Given the description of an element on the screen output the (x, y) to click on. 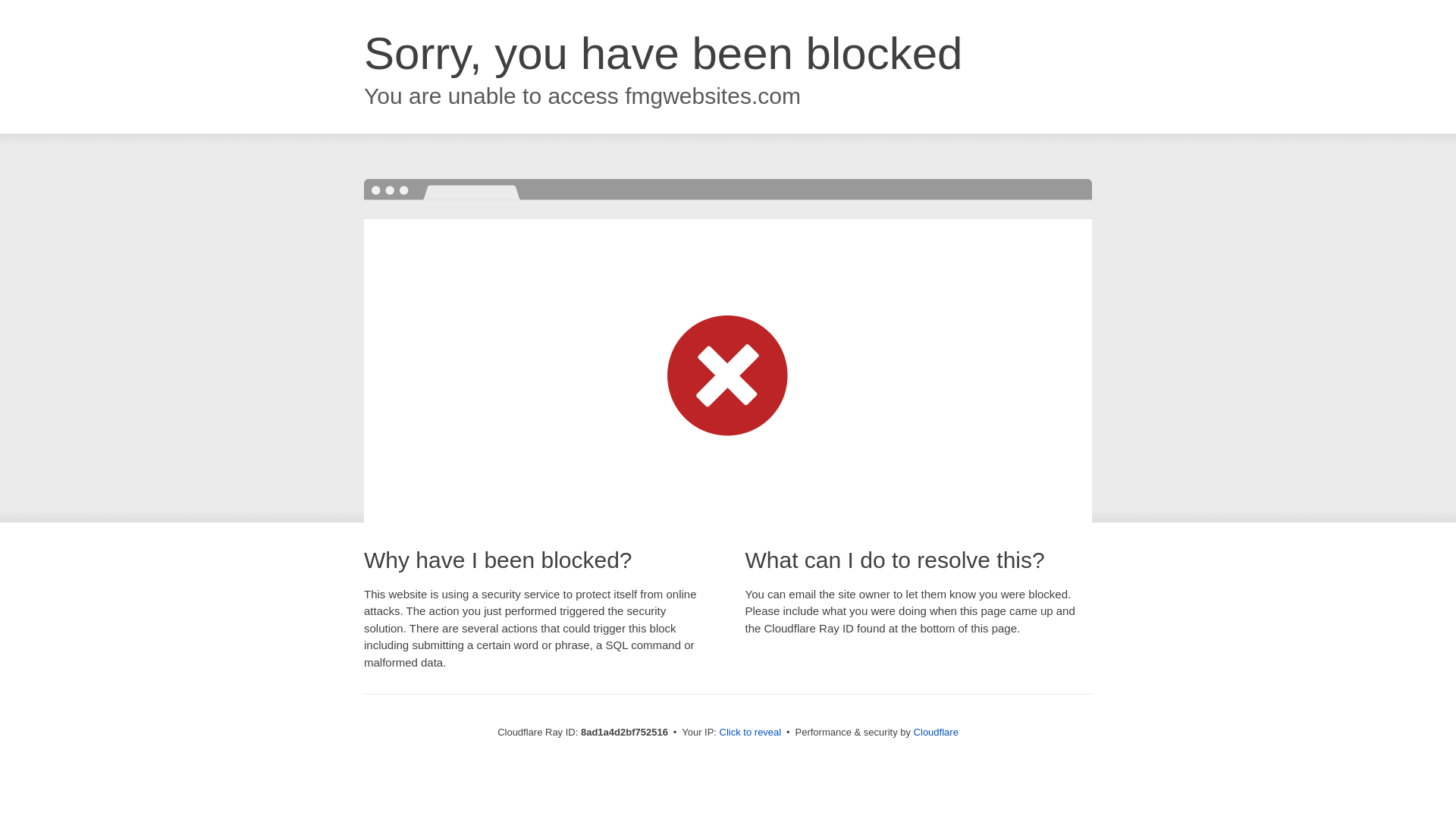
Cloudflare (936, 731)
Click to reveal (750, 732)
